Given the description of an element on the screen output the (x, y) to click on. 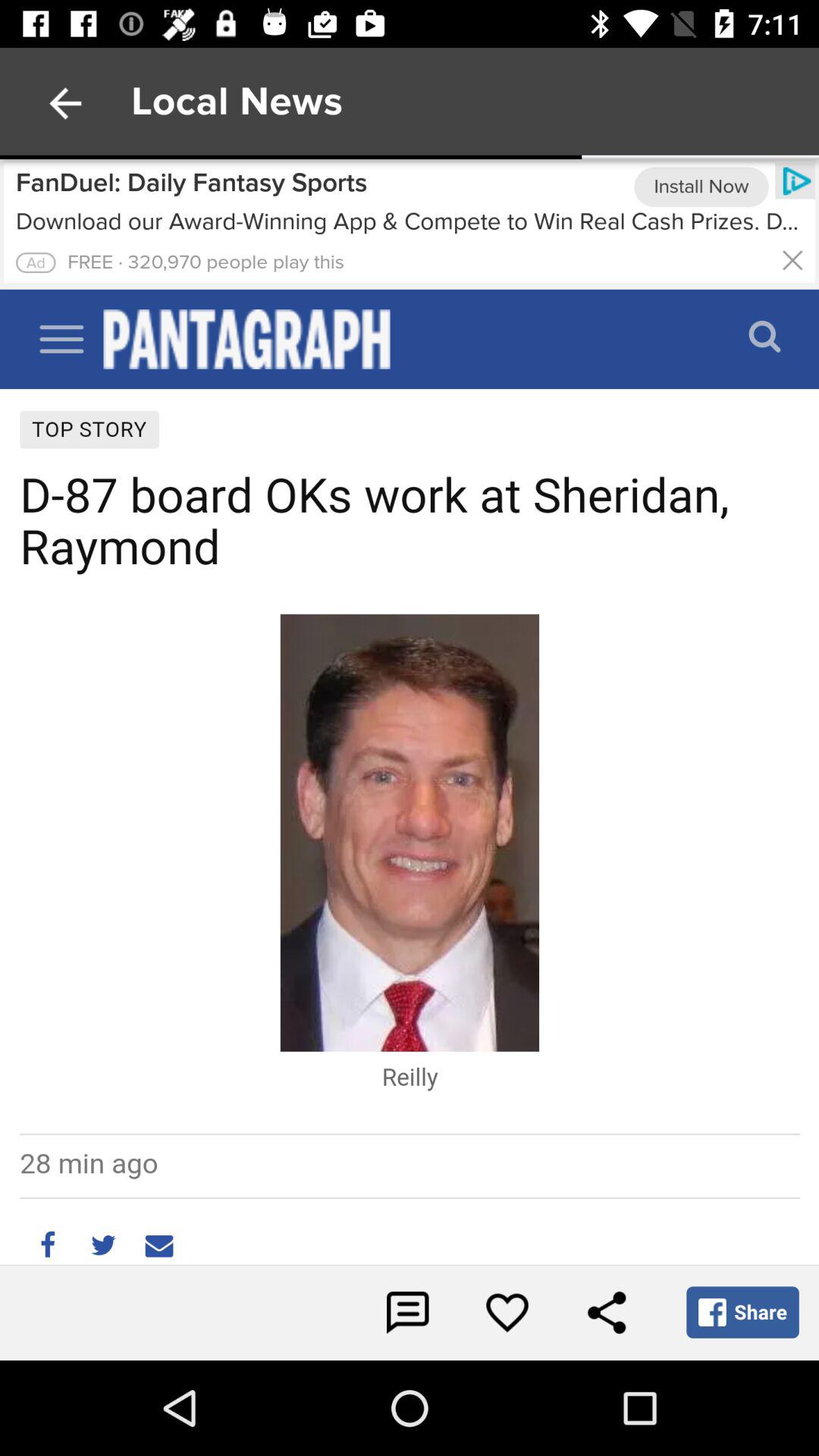
close the page (791, 259)
